Given the description of an element on the screen output the (x, y) to click on. 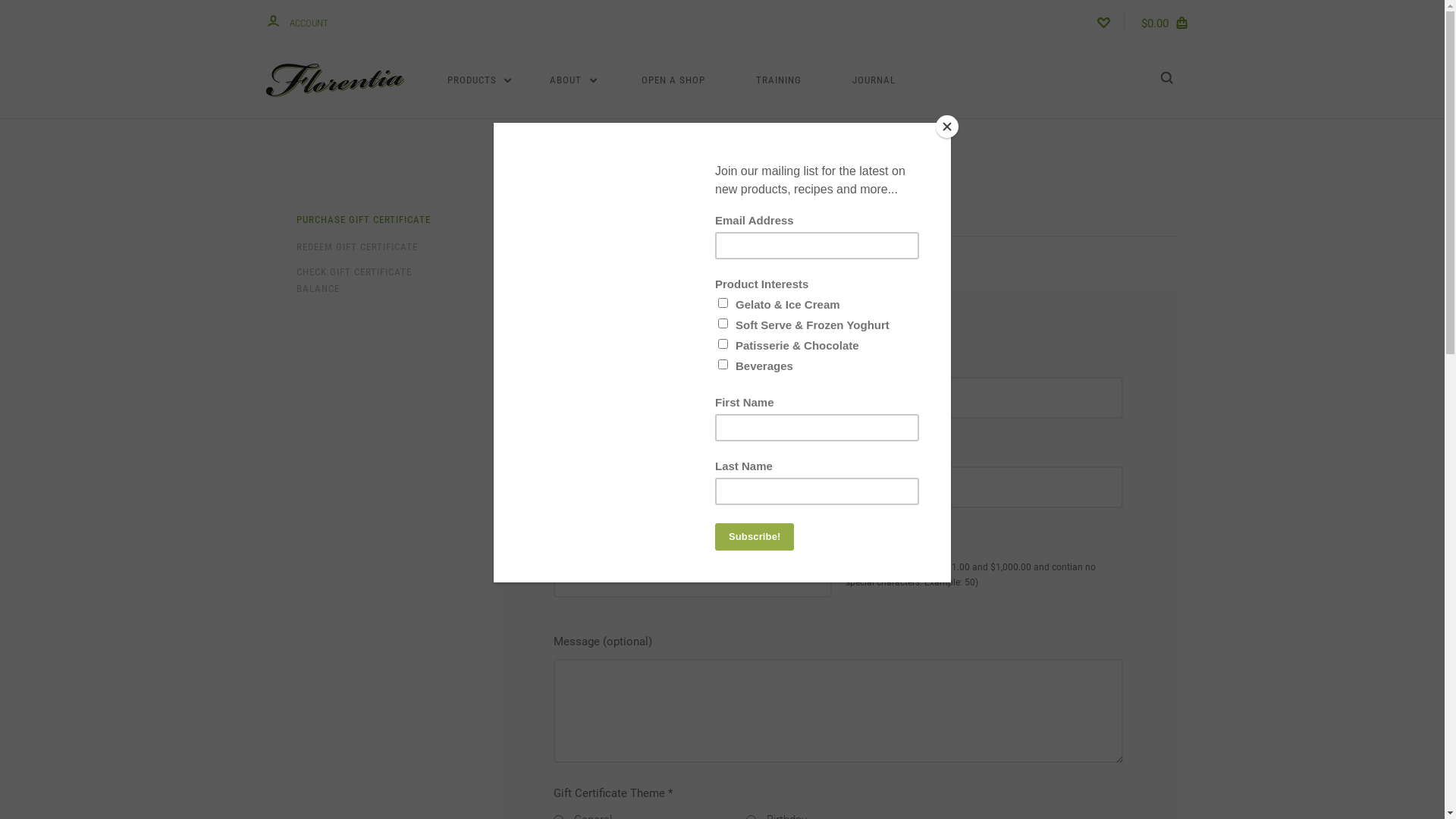
search_icon Element type: text (1166, 79)
$0.00 bag Element type: text (1165, 21)
REDEEM GIFT CERTIFICATE Element type: text (356, 247)
CHECK GIFT CERTIFICATE BALANCE Element type: text (363, 280)
TRAINING Element type: text (778, 79)
ABOUT DROPDOWN_ARROW Element type: text (572, 79)
ACCOUNT ACCOUNT Element type: text (296, 21)
OPEN A SHOP Element type: text (673, 79)
JOURNAL Element type: text (873, 79)
PRODUCTS DROPDOWN_ARROW Element type: text (479, 79)
GIFT CERTIFICATES Element type: text (741, 158)
wishlist Element type: text (1102, 21)
HOME Element type: text (672, 158)
